Given the description of an element on the screen output the (x, y) to click on. 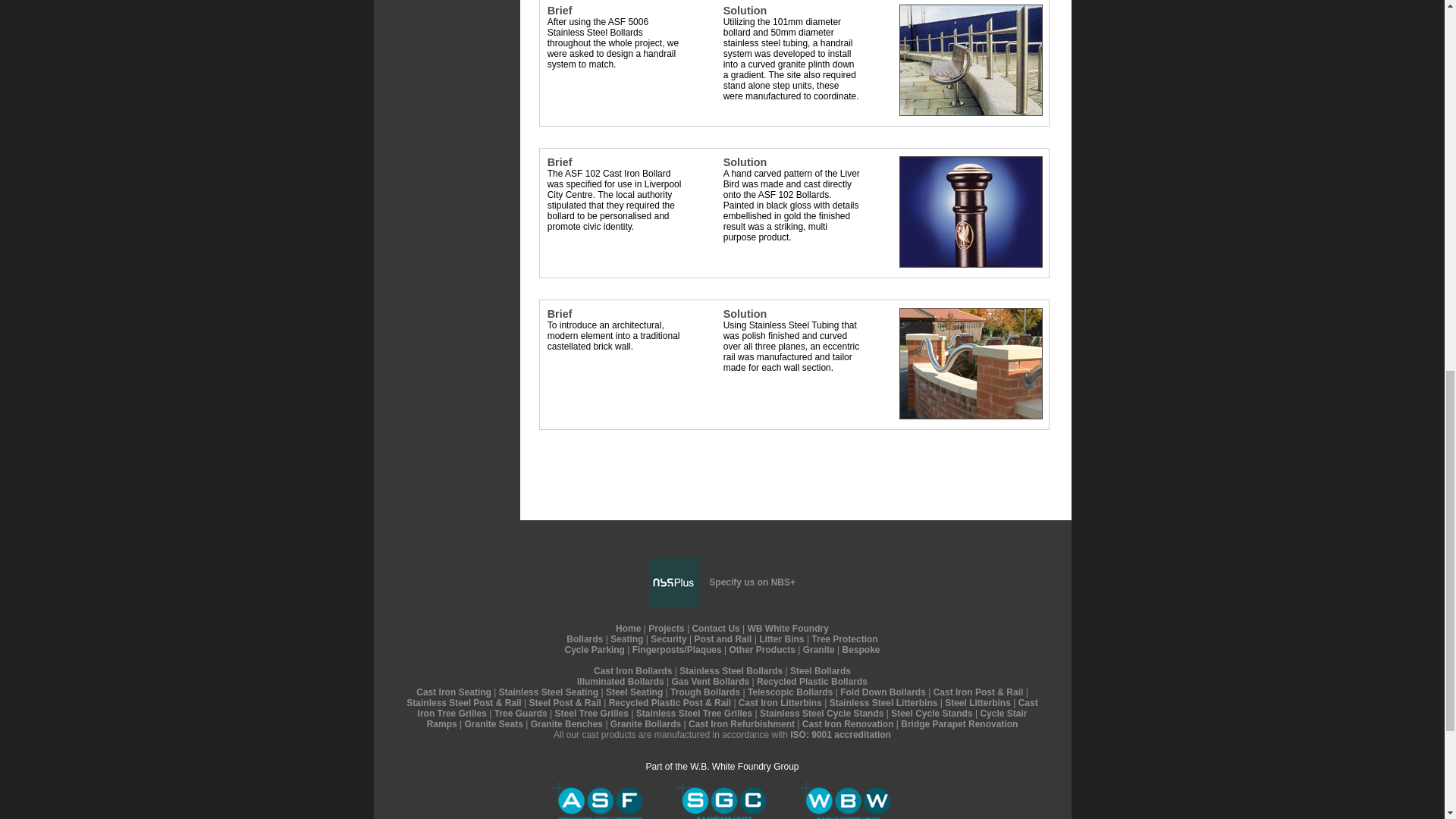
SG Castings (721, 800)
Contact Us (715, 628)
Projects (665, 628)
Home (627, 628)
